Given the description of an element on the screen output the (x, y) to click on. 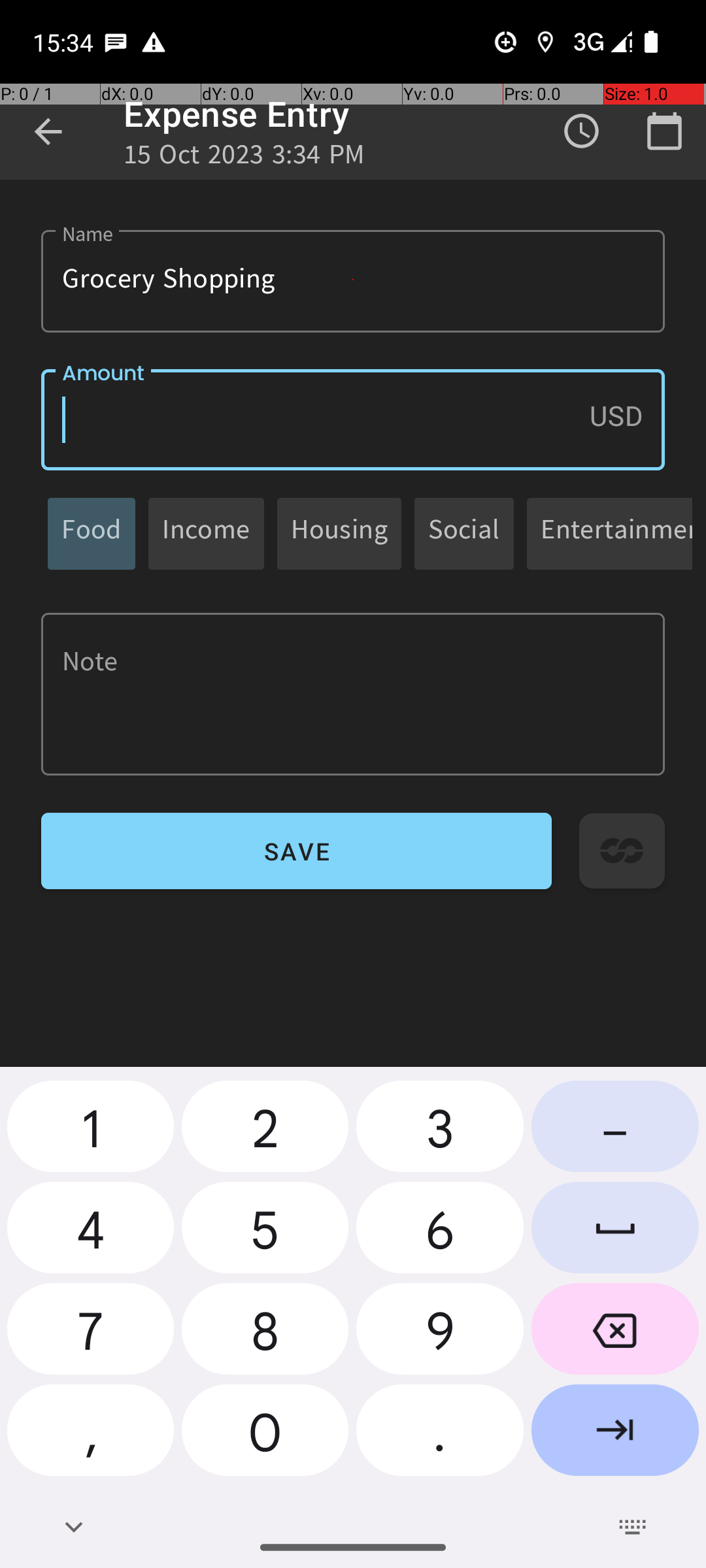
Expense Entry Element type: android.widget.TextView (236, 113)
15 Oct 2023 3:34 PM Element type: android.widget.TextView (244, 157)
Grocery Shopping Element type: android.widget.EditText (352, 280)
SAVE Element type: android.widget.Button (296, 850)
Dash Element type: android.widget.FrameLayout (614, 1130)
Next Element type: android.widget.FrameLayout (614, 1434)
